Given the description of an element on the screen output the (x, y) to click on. 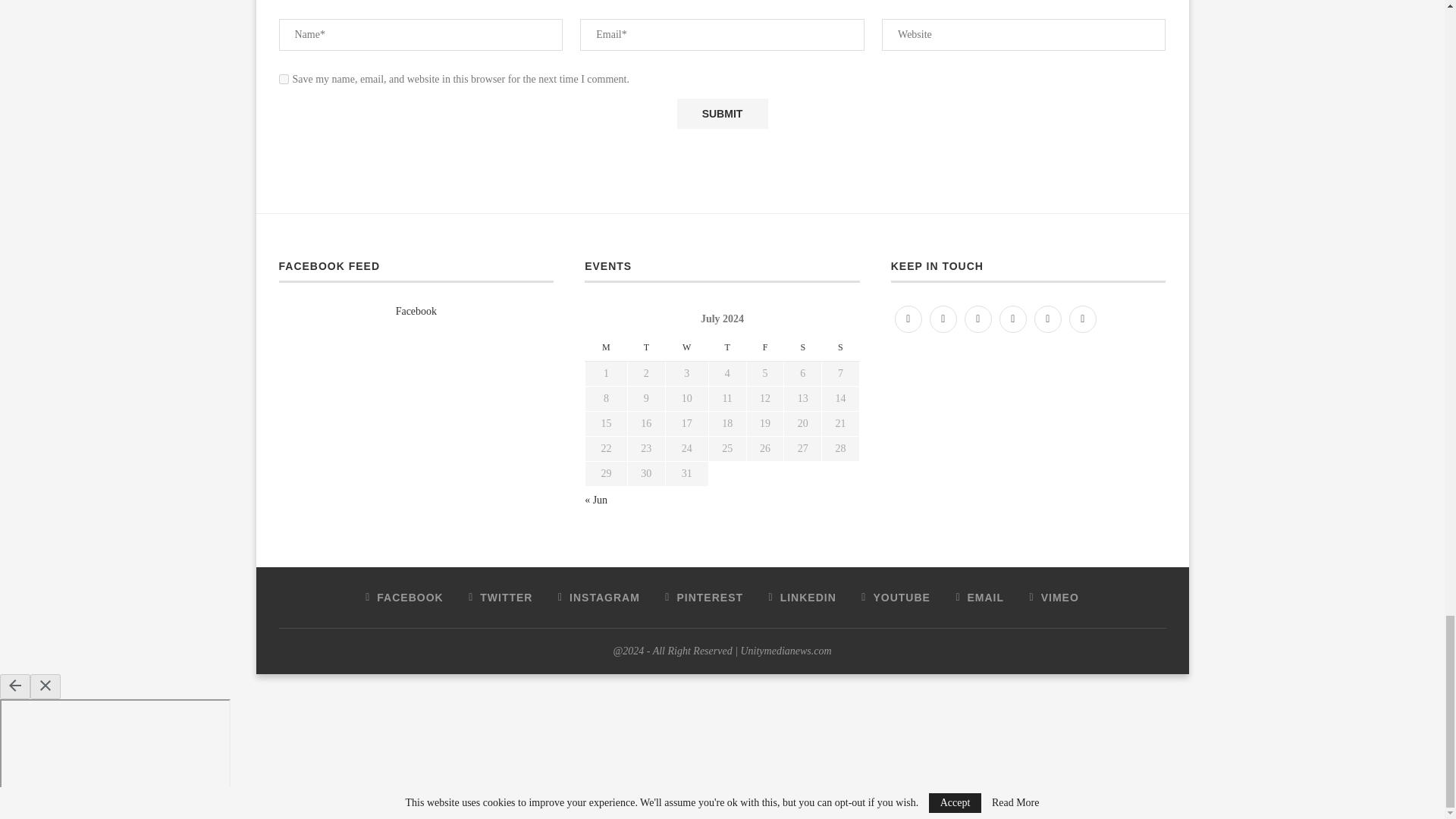
yes (283, 79)
Submit (722, 113)
